Given the description of an element on the screen output the (x, y) to click on. 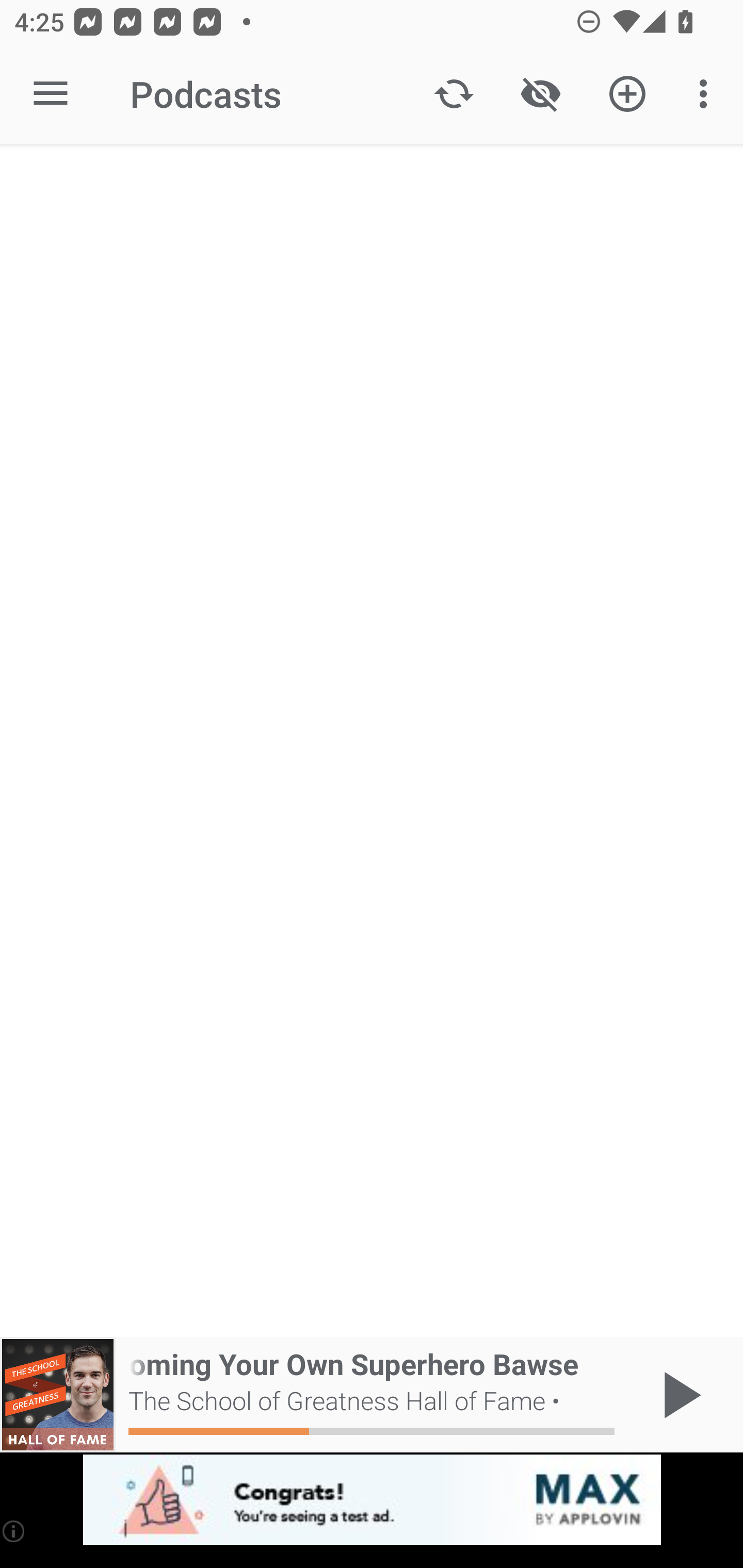
Open navigation sidebar (50, 93)
Update (453, 93)
Show / Hide played content (540, 93)
Add new Podcast (626, 93)
More options (706, 93)
Play / Pause (677, 1394)
app-monetization (371, 1500)
(i) (14, 1531)
